Given the description of an element on the screen output the (x, y) to click on. 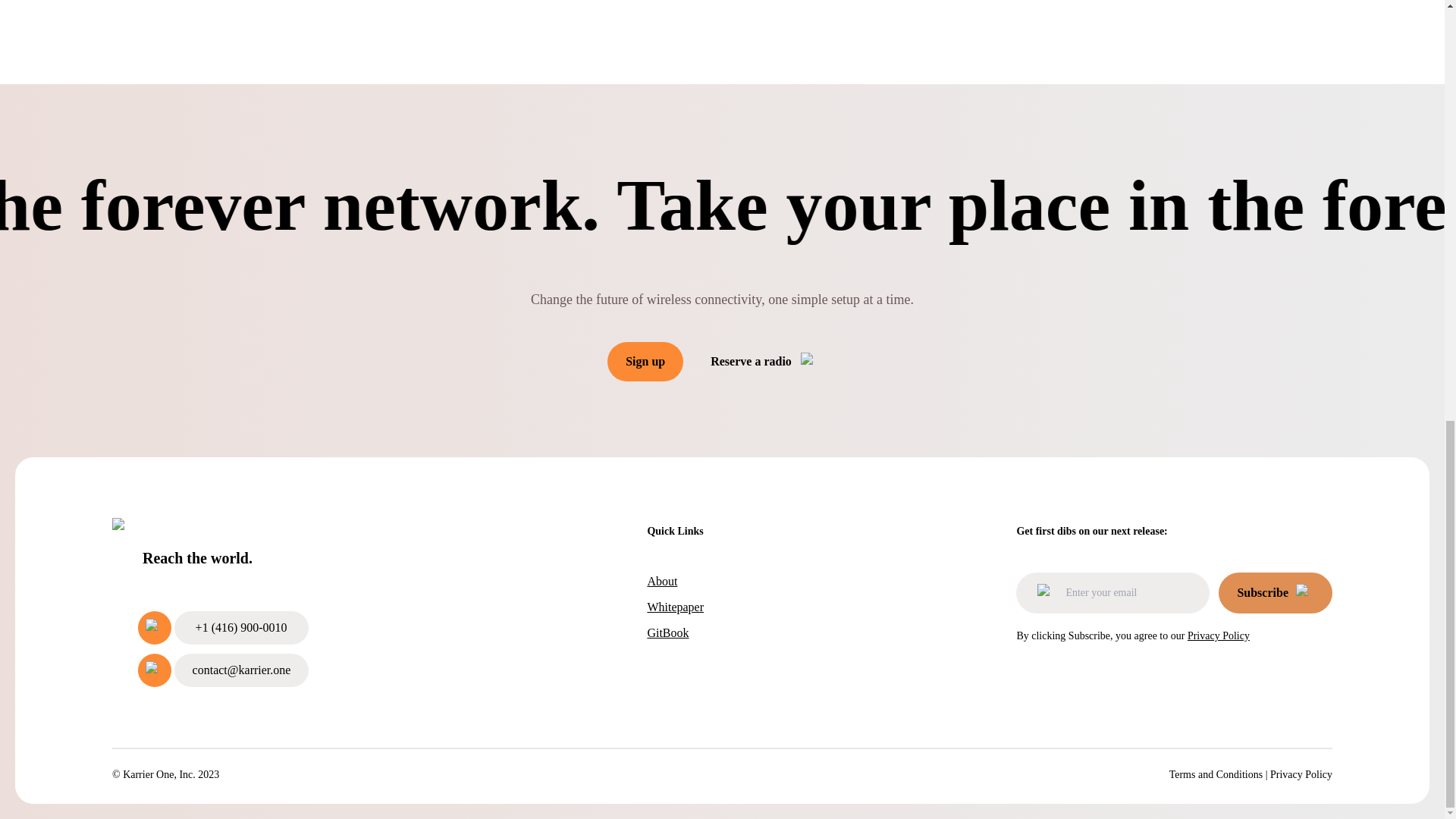
Privacy Policy (1300, 774)
GitBook (674, 633)
Subscribe (1275, 592)
Privacy Policy (1218, 635)
Karrier One (223, 532)
Terms and Conditions (1215, 774)
About (674, 581)
Reserve a radio (765, 361)
Sign up (644, 361)
Whitepaper (674, 607)
